Given the description of an element on the screen output the (x, y) to click on. 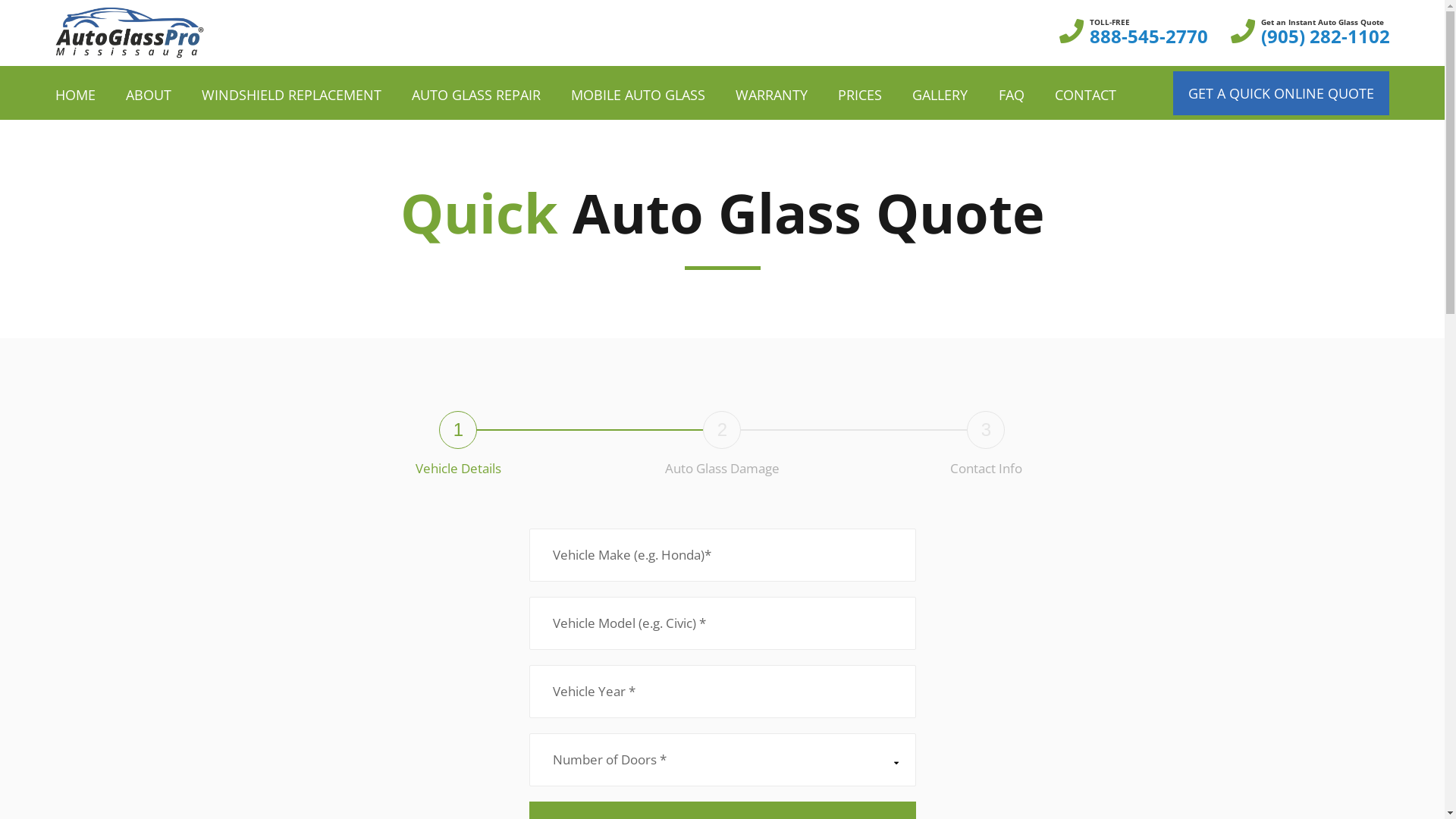
PRICES Element type: text (859, 94)
GALLERY Element type: text (939, 94)
CONTACT Element type: text (1085, 94)
auto-glass-pro-mississauga-logo Element type: hover (128, 32)
Get an Instant Auto Glass Quote
(905) 282-1102 Element type: text (1324, 33)
ABOUT Element type: text (148, 94)
GET A QUICK ONLINE QUOTE Element type: text (1281, 93)
HOME Element type: text (74, 94)
MOBILE AUTO GLASS Element type: text (638, 94)
WARRANTY Element type: text (771, 94)
FAQ Element type: text (1010, 94)
TOLL-FREE
888-545-2770 Element type: text (1147, 33)
AUTO GLASS REPAIR Element type: text (475, 94)
WINDSHIELD REPLACEMENT Element type: text (291, 94)
